Given the description of an element on the screen output the (x, y) to click on. 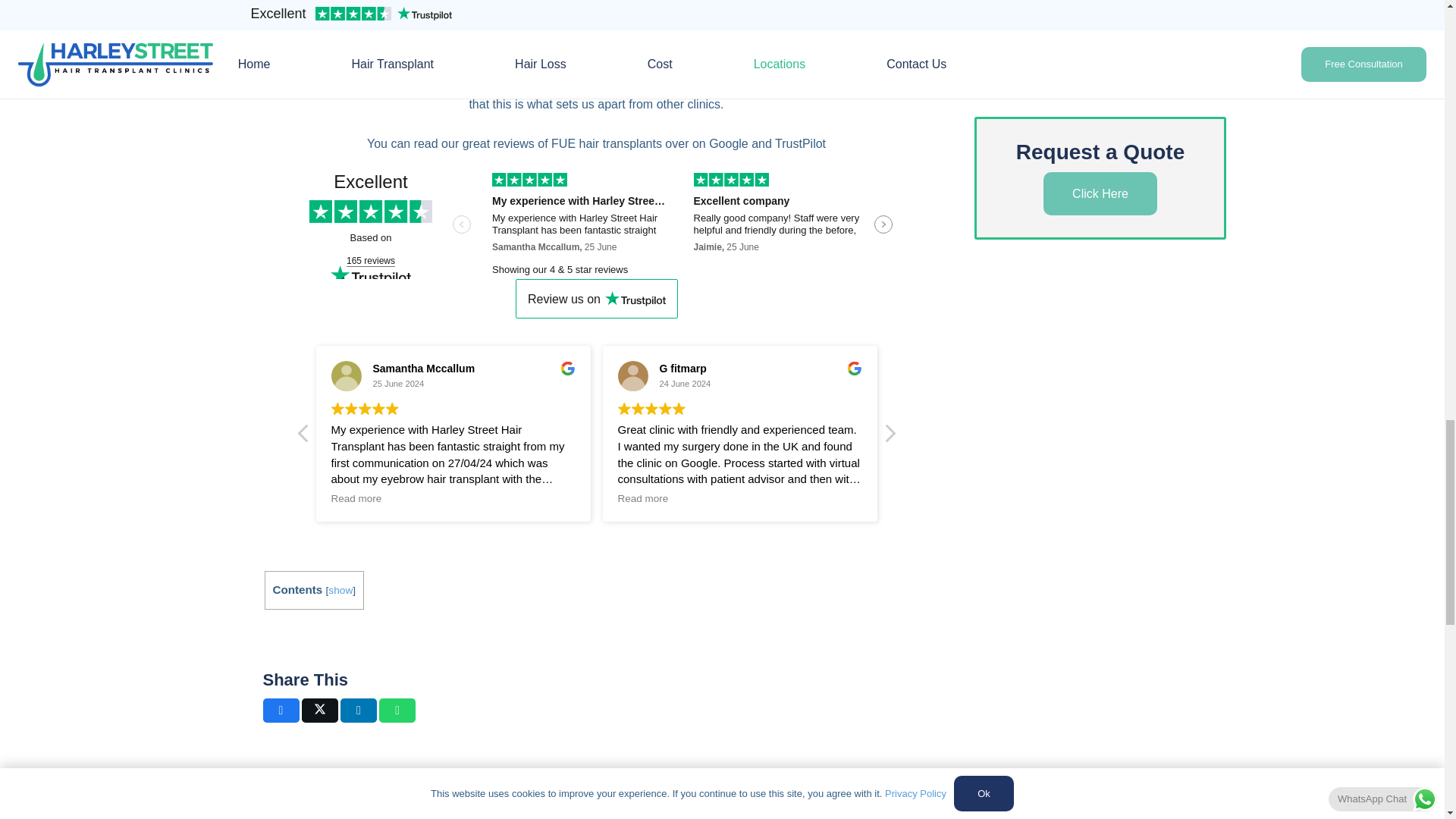
Hair Transplant Locations 7 (632, 376)
Customer reviews powered by Trustpilot (596, 225)
Customer reviews powered by Trustpilot (596, 298)
show (340, 590)
Hair Transplant Locations 6 (345, 376)
